Given the description of an element on the screen output the (x, y) to click on. 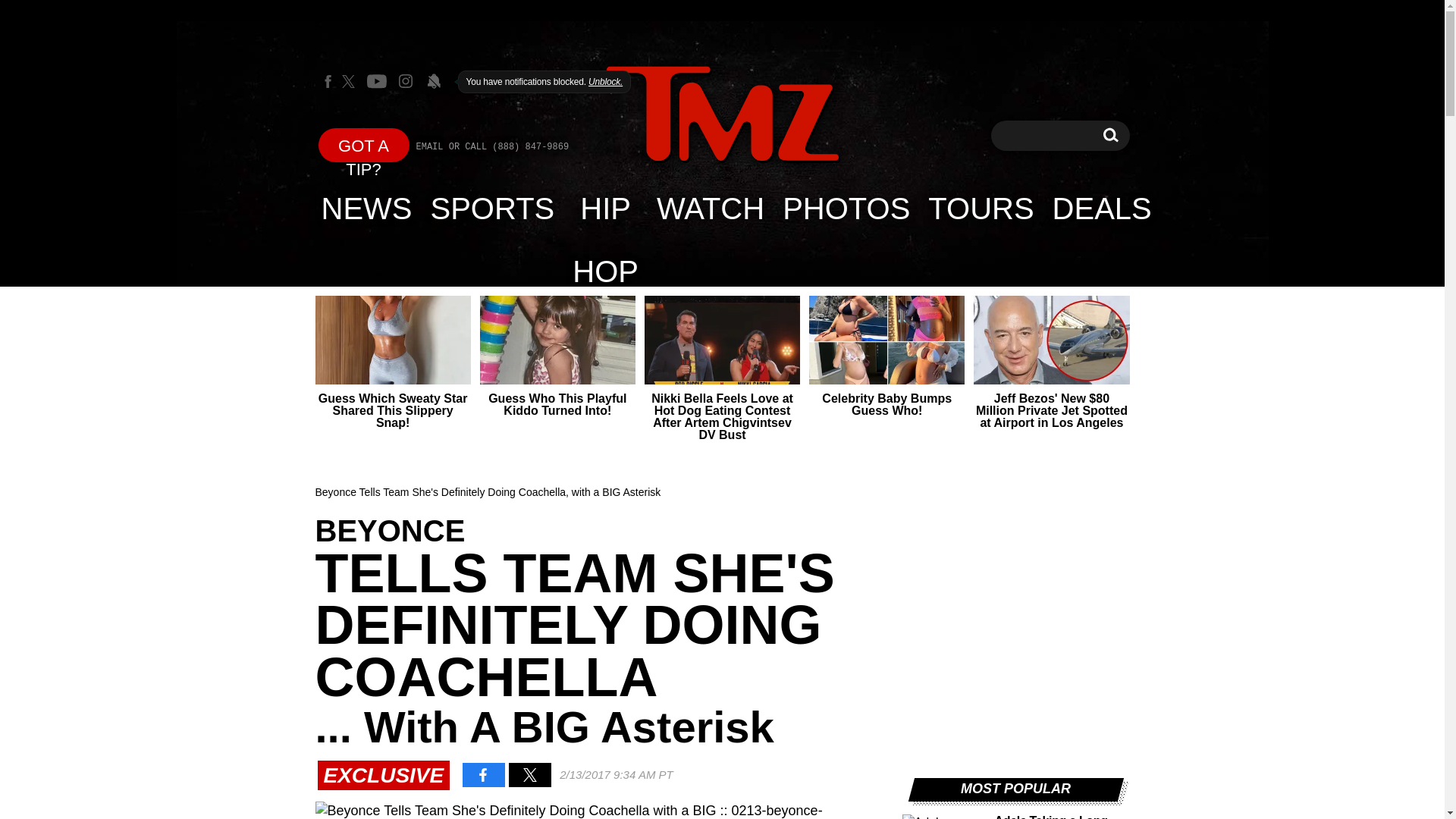
SPORTS (493, 207)
WATCH (710, 207)
TMZ (722, 113)
DEALS (1101, 207)
NEWS (367, 207)
TOURS (980, 207)
PHOTOS (845, 207)
HIP HOP (605, 207)
TMZ (722, 115)
